Given the description of an element on the screen output the (x, y) to click on. 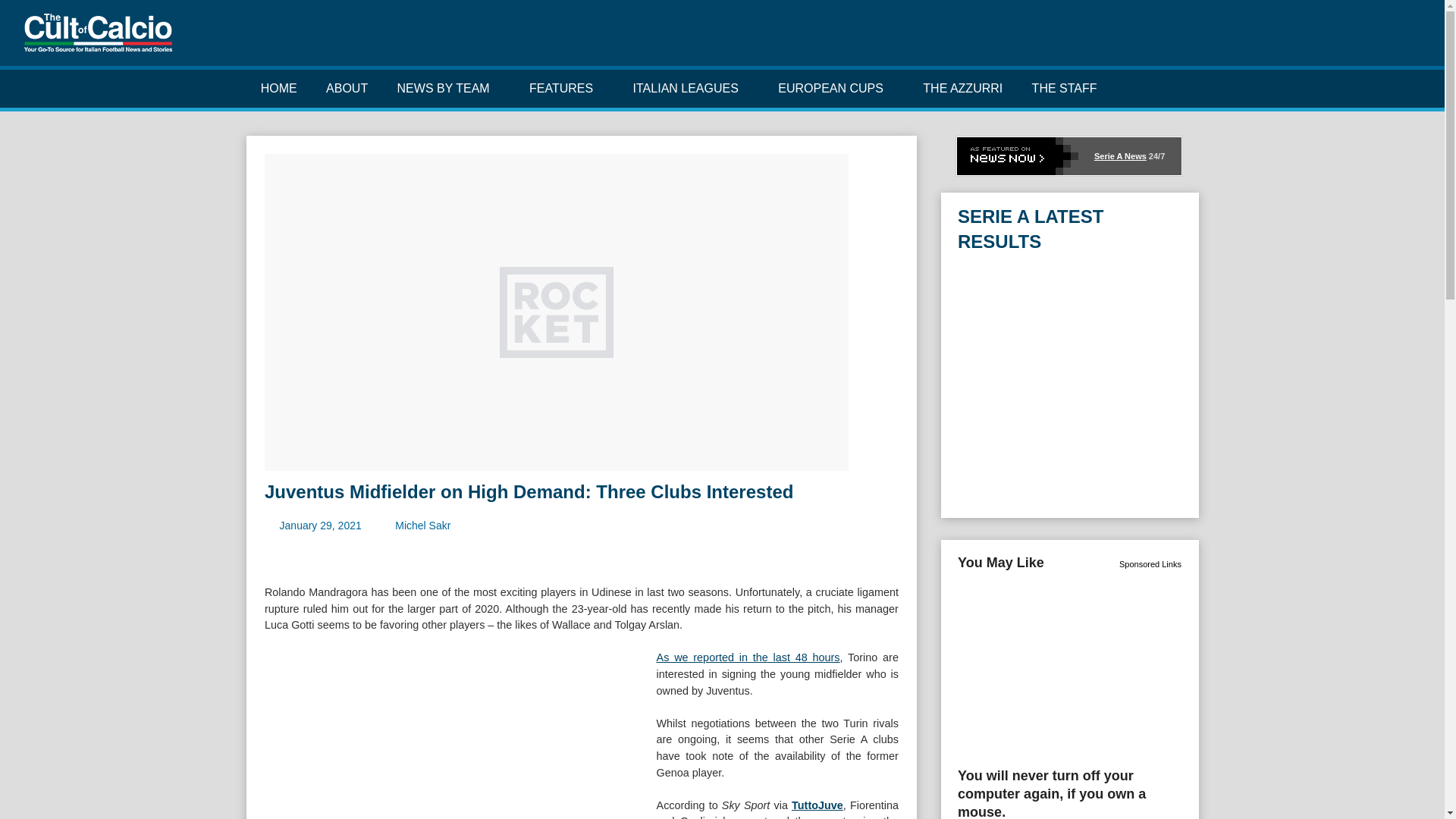
NEWS BY TEAM (447, 88)
HOME (278, 88)
Instagram (1363, 39)
EUROPEAN CUPS (835, 88)
Facebook (1315, 39)
ITALIAN LEAGUES (689, 88)
View all posts by Michel Sakr (421, 525)
7:00 pm (320, 525)
Twitter (1339, 39)
FEATURES (566, 88)
RSS Feed (1409, 39)
YouTube (1386, 39)
THE STAFF (1063, 88)
ABOUT (346, 88)
